Given the description of an element on the screen output the (x, y) to click on. 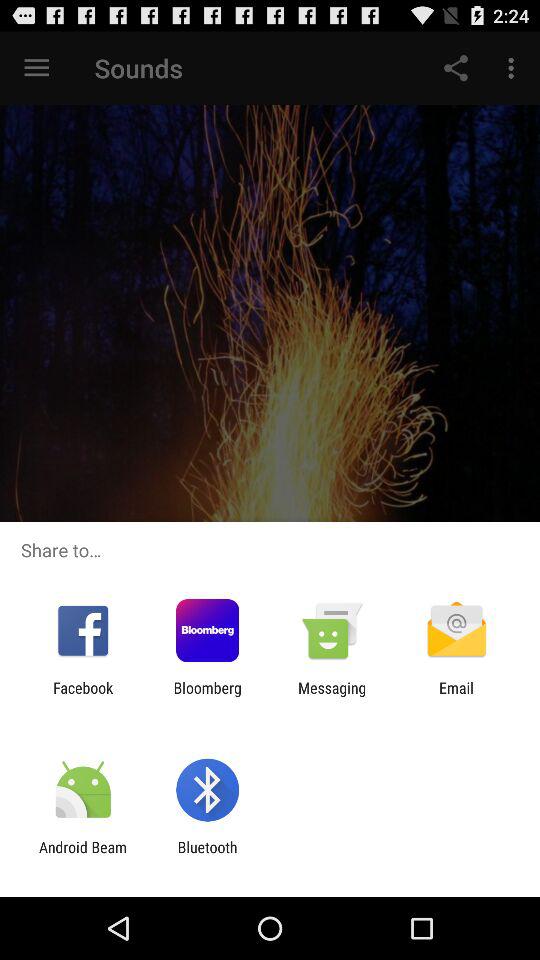
click icon next to the android beam icon (207, 856)
